Given the description of an element on the screen output the (x, y) to click on. 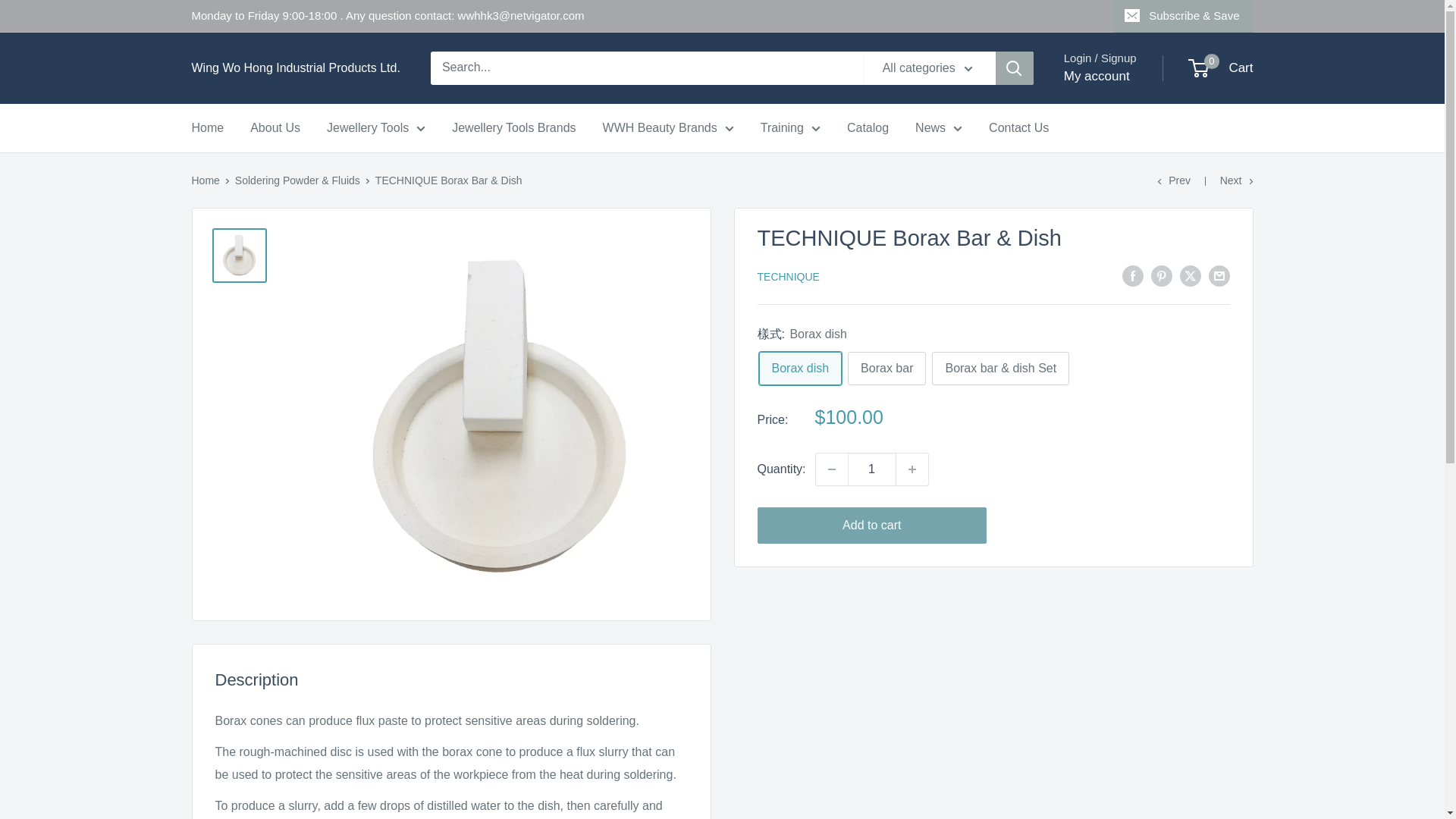
Borax dish (799, 368)
Increase quantity by 1 (912, 469)
Borax bar (886, 368)
1 (871, 469)
Decrease quantity by 1 (831, 469)
